Given the description of an element on the screen output the (x, y) to click on. 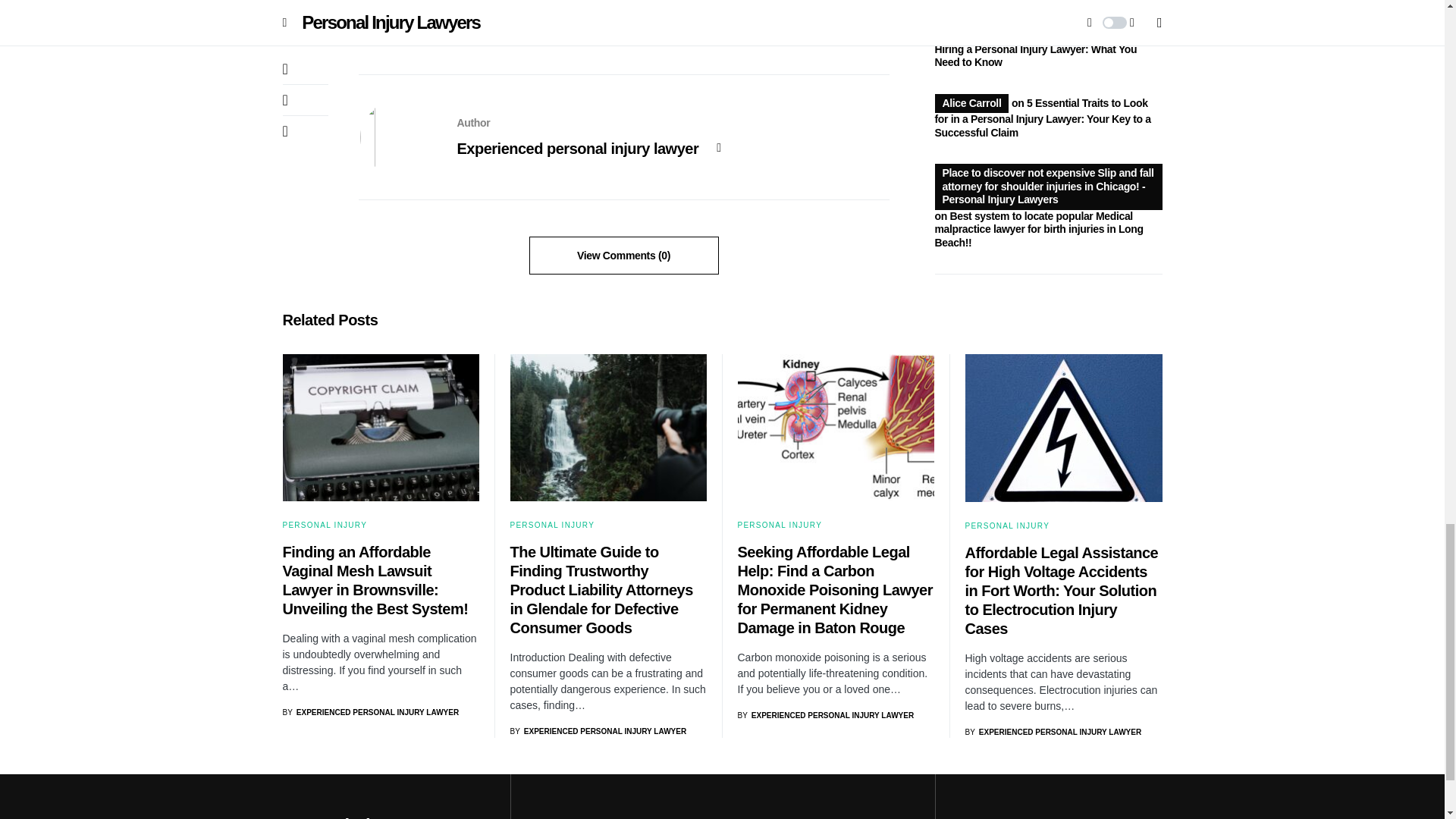
View all posts by Experienced personal injury lawyer (370, 712)
View all posts by Experienced personal injury lawyer (597, 731)
View all posts by Experienced personal injury lawyer (825, 715)
View all posts by Experienced personal injury lawyer (1052, 731)
